Given the description of an element on the screen output the (x, y) to click on. 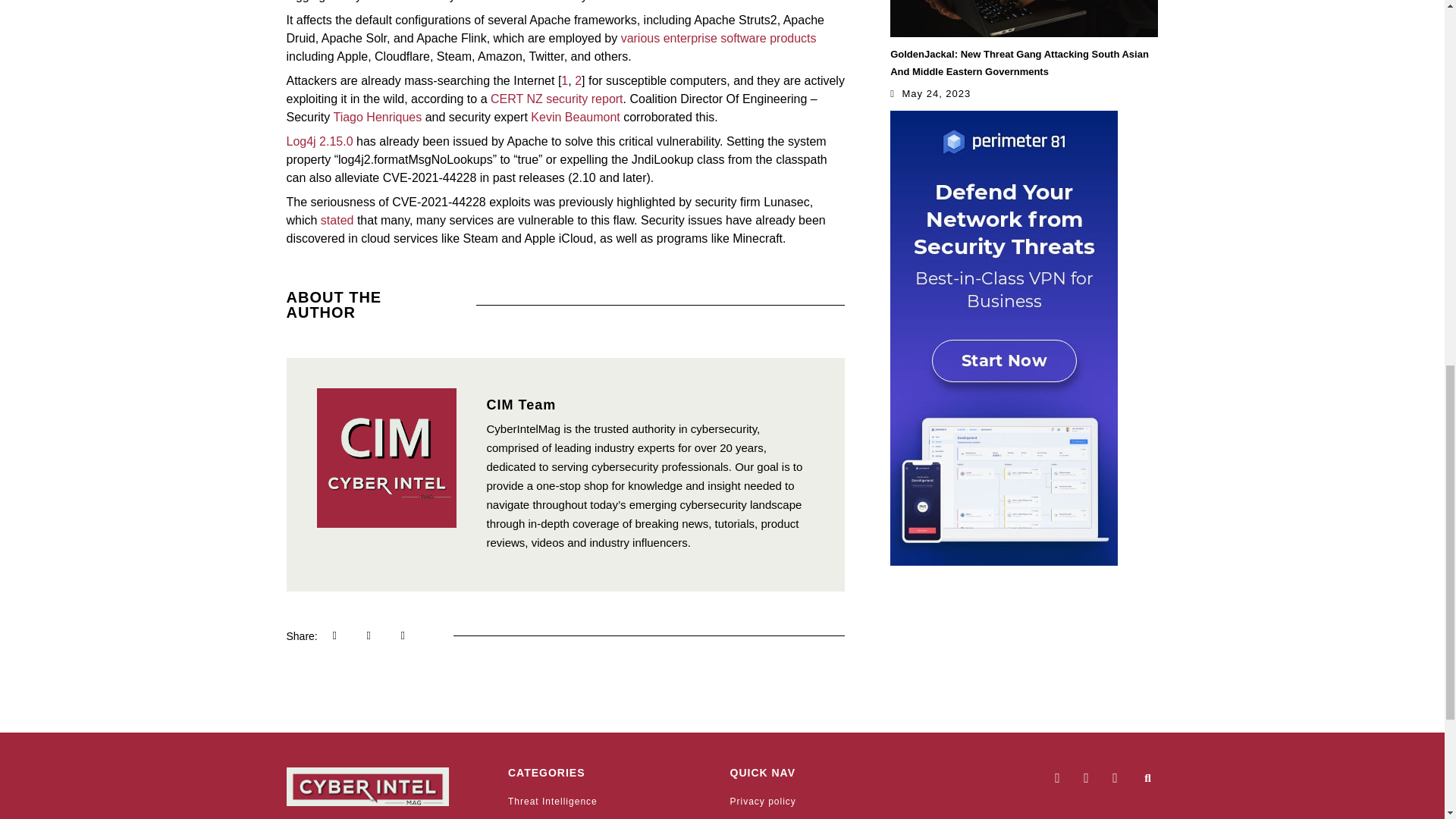
CERT NZ security report (556, 98)
various enterprise software products (718, 38)
stated (336, 219)
Kevin Beaumont (575, 116)
Log4j 2.15.0 (319, 141)
Tiago Henriques (377, 116)
